Given the description of an element on the screen output the (x, y) to click on. 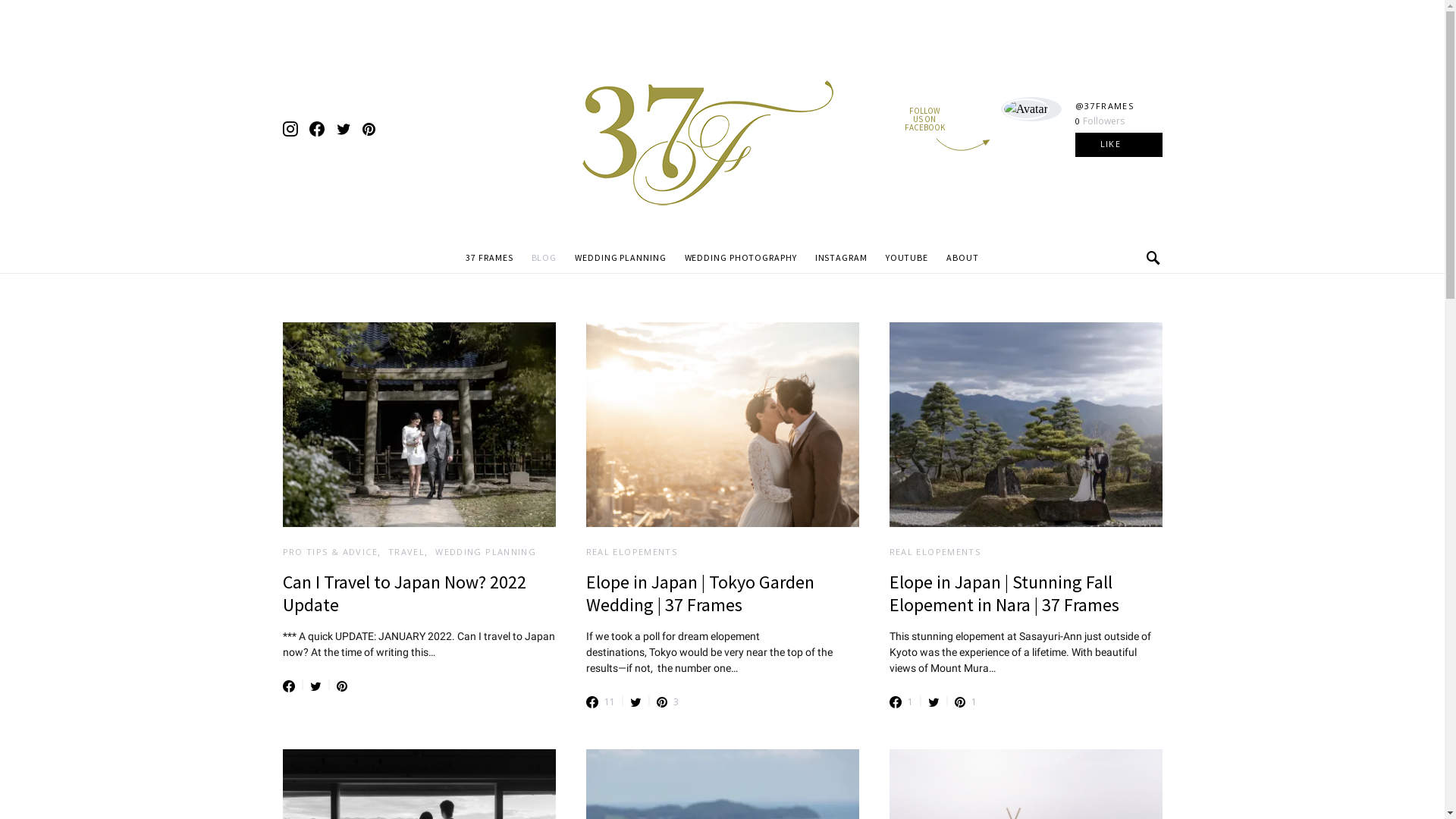
ABOUT Element type: text (958, 257)
Can I Travel to Japan Now? 2022 Update Element type: text (403, 593)
YOUTUBE Element type: text (906, 257)
WEDDING PLANNING Element type: text (619, 257)
LIKE Element type: text (1118, 144)
Elope in Japan | Tokyo Garden Wedding | 37 Frames Element type: text (699, 593)
1 Element type: text (900, 702)
3 Element type: text (667, 702)
INSTAGRAM Element type: text (841, 257)
WEDDING PHOTOGRAPHY Element type: text (740, 257)
BLOG Element type: text (544, 257)
REAL ELOPEMENTS Element type: text (631, 551)
11 Element type: text (599, 702)
Elope in Japan | Stunning Fall Elopement in Nara | 37 Frames Element type: text (1003, 593)
@37FRAMES Element type: text (1104, 105)
37 FRAMES Element type: text (493, 257)
PRO TIPS & ADVICE Element type: text (329, 551)
TRAVEL Element type: text (406, 551)
1 Element type: text (964, 702)
REAL ELOPEMENTS Element type: text (934, 551)
WEDDING PLANNING Element type: text (485, 551)
